Given the description of an element on the screen output the (x, y) to click on. 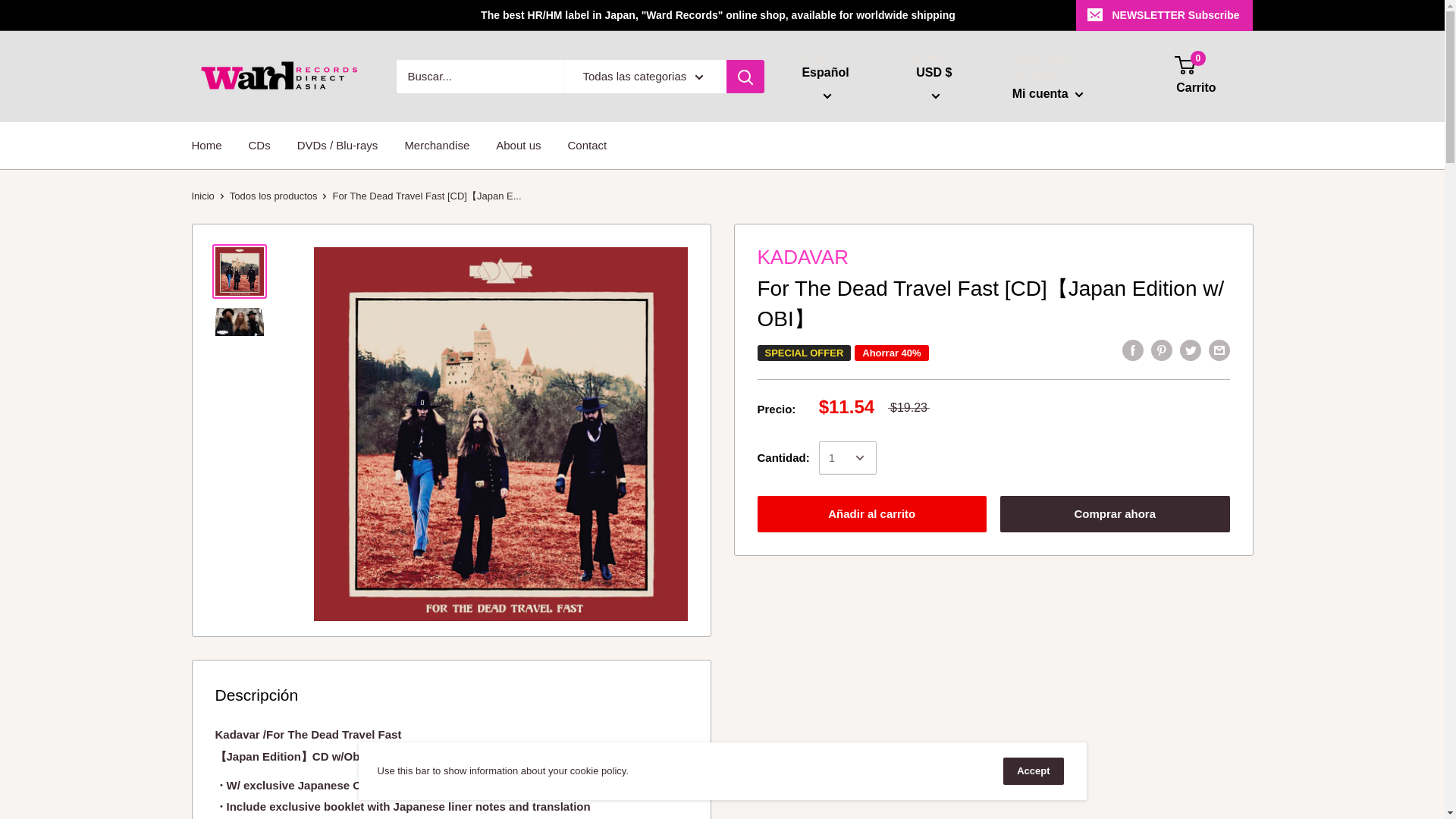
BDT (958, 463)
BIF (958, 507)
ANG (958, 331)
ALL (958, 288)
NEWSLETTER Subscribe (1163, 15)
CDF (958, 638)
AWG (958, 375)
BAM (958, 419)
BBD (958, 441)
BND (958, 528)
en (837, 137)
AMD (958, 310)
zh-CN (837, 202)
BOB (958, 550)
BSD (958, 572)
